Given the description of an element on the screen output the (x, y) to click on. 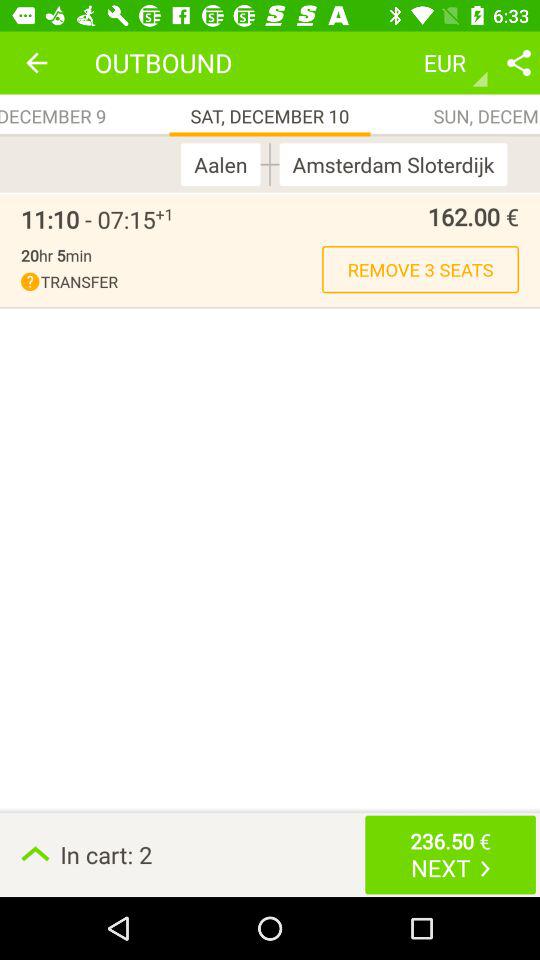
open transfer (171, 281)
